Given the description of an element on the screen output the (x, y) to click on. 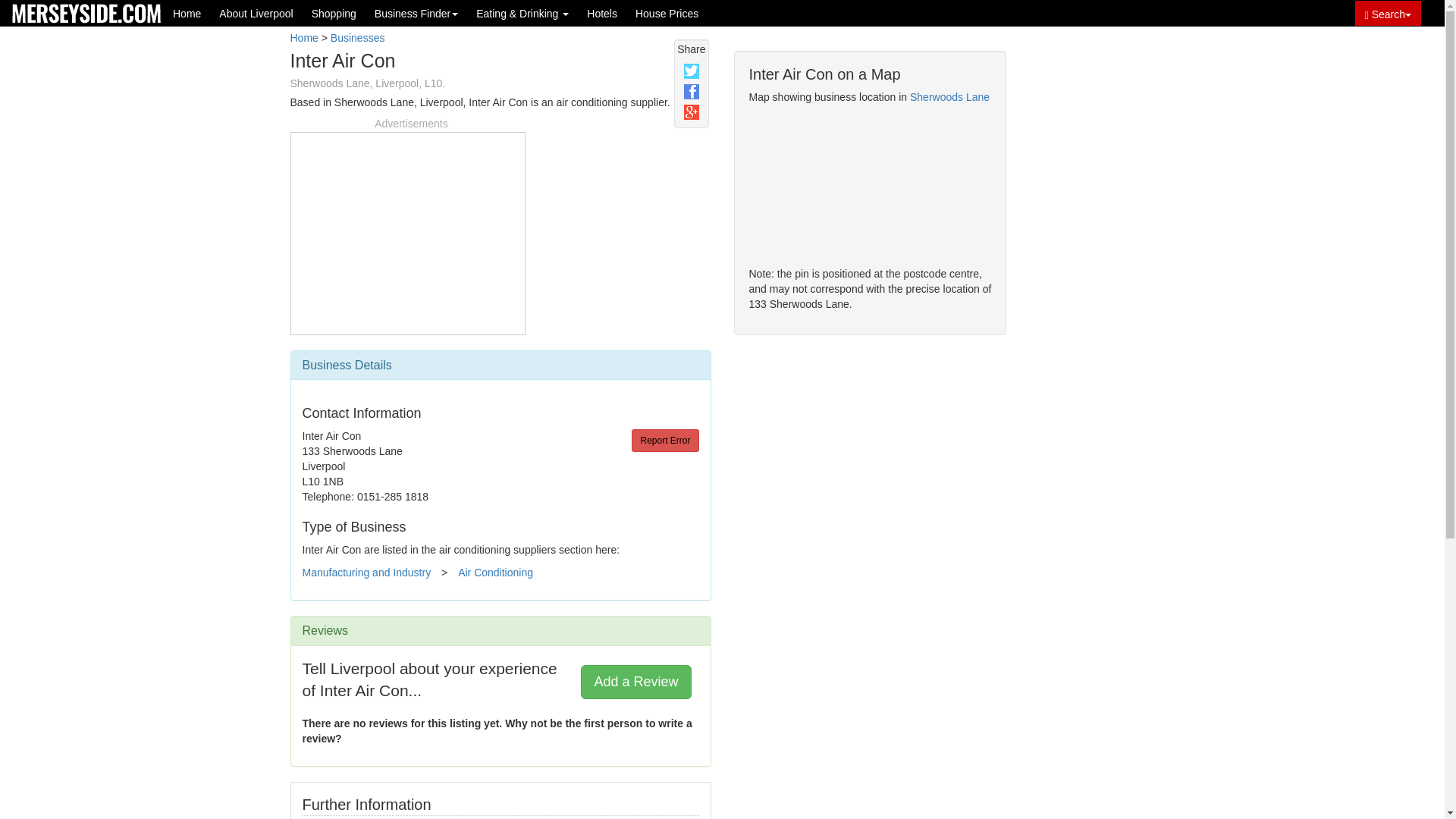
Report Error (664, 440)
Advertisement (1091, 296)
Business Finder (416, 12)
Home (303, 37)
Manufacturing and Industry (365, 572)
Businesses (357, 37)
Home (186, 12)
Shopping (333, 12)
Add a Review (635, 681)
Report Error (664, 440)
Sherwoods Lane (950, 96)
Advertisement (407, 230)
Hotels (602, 12)
Air Conditioning (495, 572)
About Liverpool (255, 12)
